Given the description of an element on the screen output the (x, y) to click on. 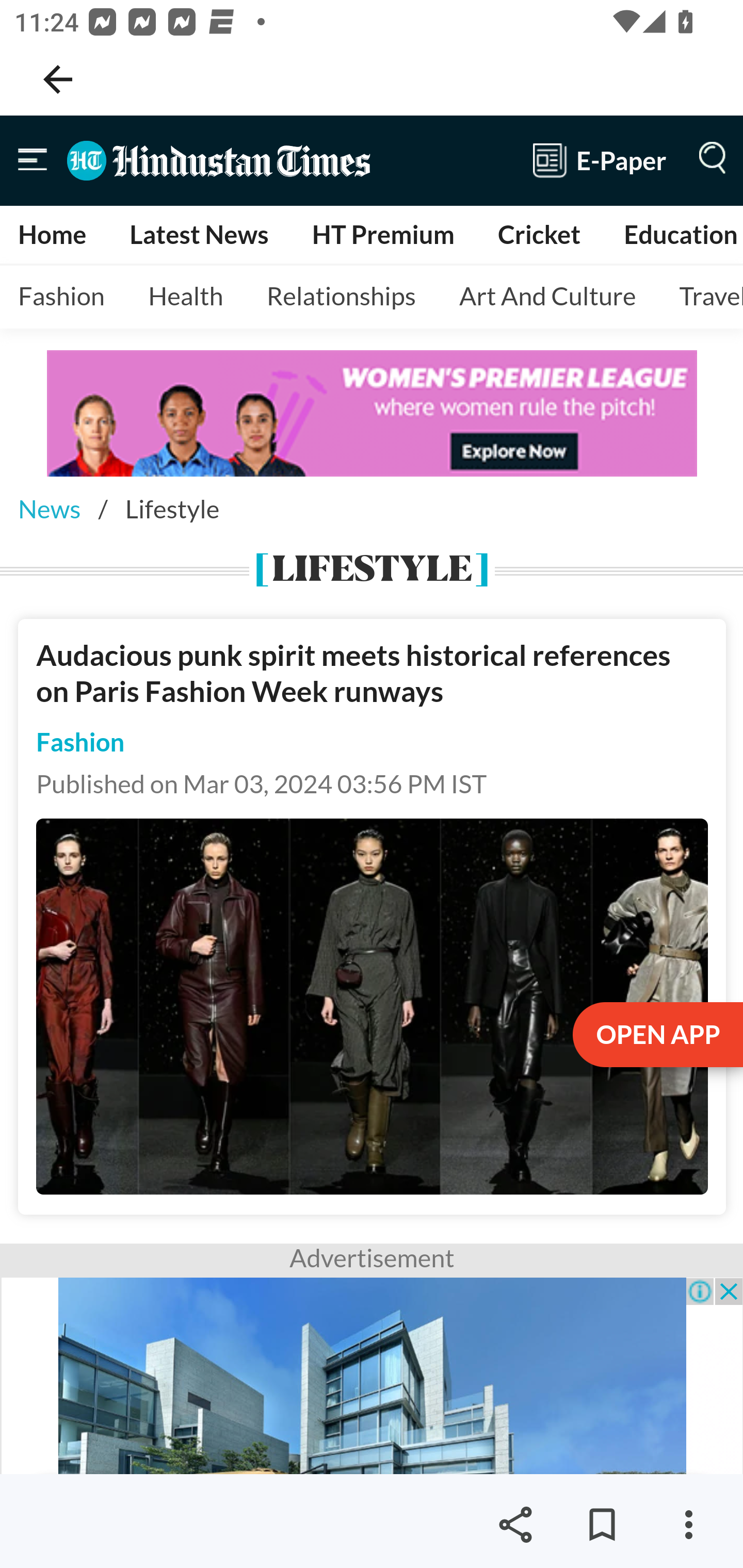
Navigate up (57, 79)
Menu Menu Menu Menu (708, 159)
E-Paper E-Paper E-Paper E-Paper E-Paper (599, 160)
Menu Menu (32, 160)
Home (52, 233)
Latest News (197, 233)
HT Premium (382, 233)
Cricket (538, 233)
Education (680, 233)
Fashion (61, 297)
Health (185, 297)
Relationships (341, 297)
Art And Culture (547, 297)
News (48, 508)
Fashion (81, 741)
OPEN APP (656, 1035)
Share (514, 1524)
Save for later (601, 1524)
More options (688, 1524)
